Given the description of an element on the screen output the (x, y) to click on. 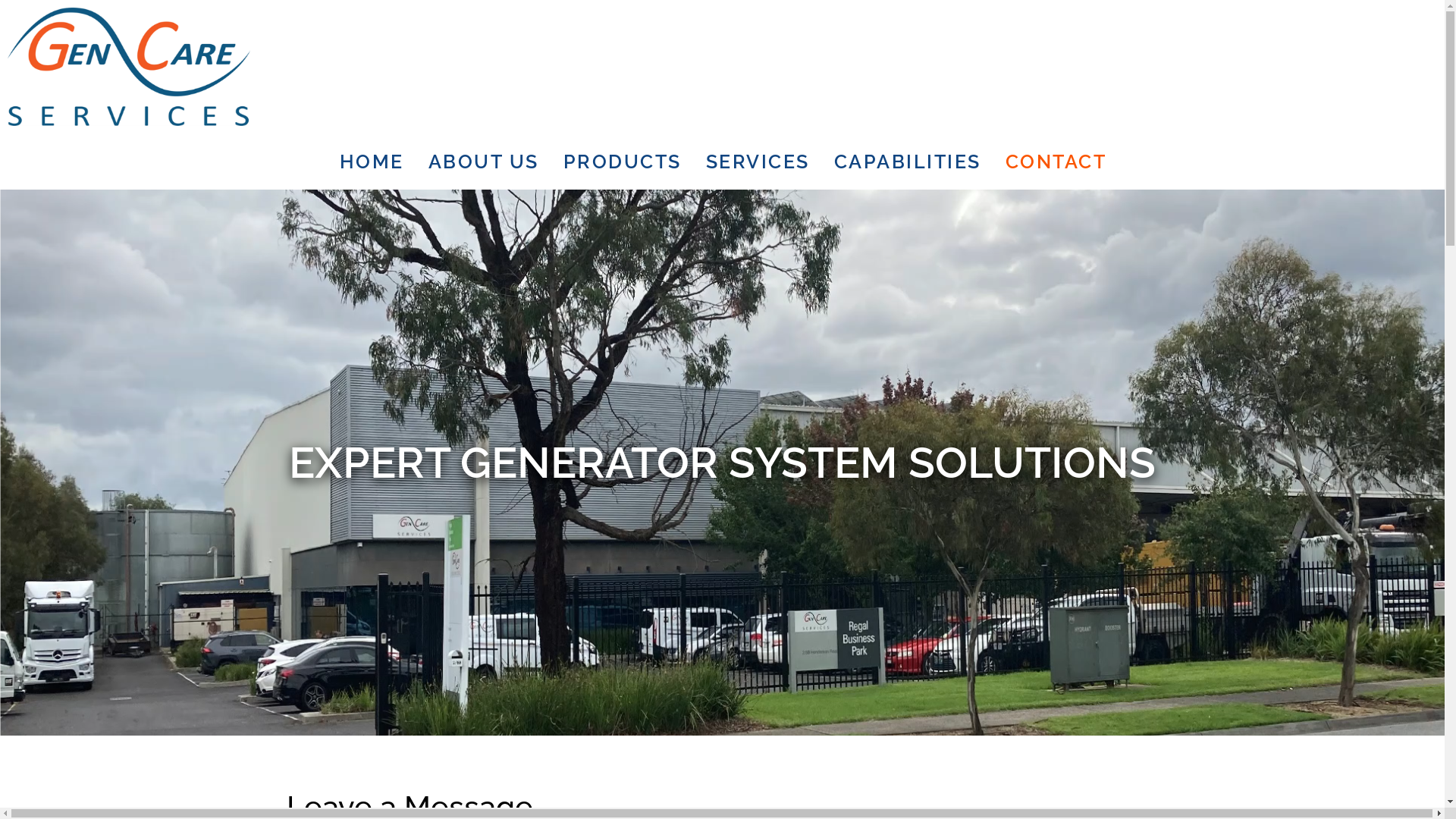
SERVICES Element type: text (757, 161)
CONTACT Element type: text (1055, 161)
ABOUT US Element type: text (483, 161)
HOME Element type: text (371, 161)
cropped-cropped-GenCare-logo.png Element type: hover (128, 66)
PRODUCTS Element type: text (622, 161)
CAPABILITIES Element type: text (907, 161)
